Given the description of an element on the screen output the (x, y) to click on. 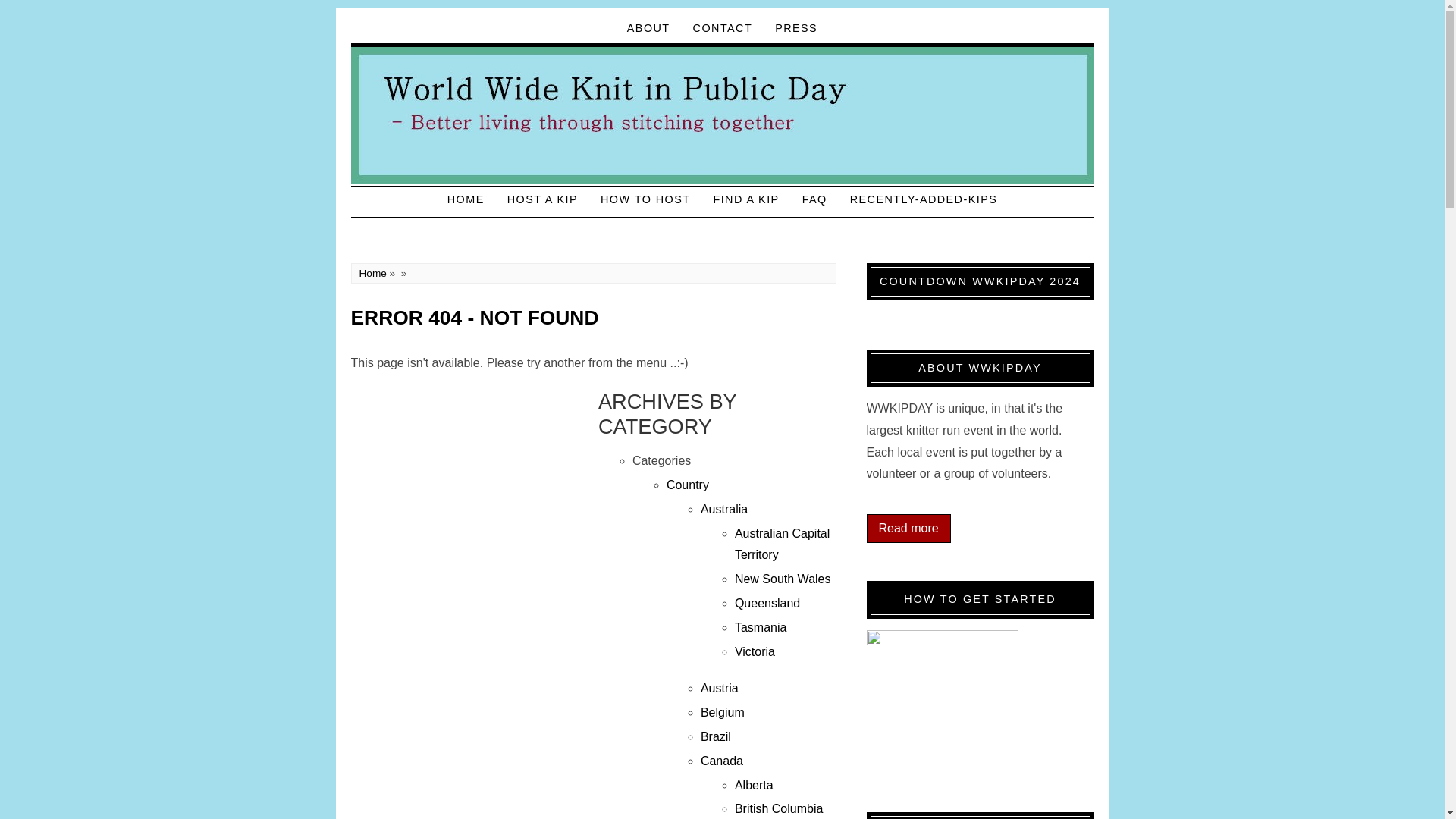
HOW TO HOST (645, 199)
World Wide Knit in Public Day (721, 114)
Austria (719, 687)
PRESS (795, 27)
Canada (721, 760)
Victoria (754, 651)
Australia (724, 508)
Country (687, 484)
HOST A KIP (542, 199)
Queensland (767, 603)
FIND A KIP (745, 199)
Brazil (715, 736)
ABOUT (648, 27)
Belgium (722, 712)
Alberta (754, 784)
